Given the description of an element on the screen output the (x, y) to click on. 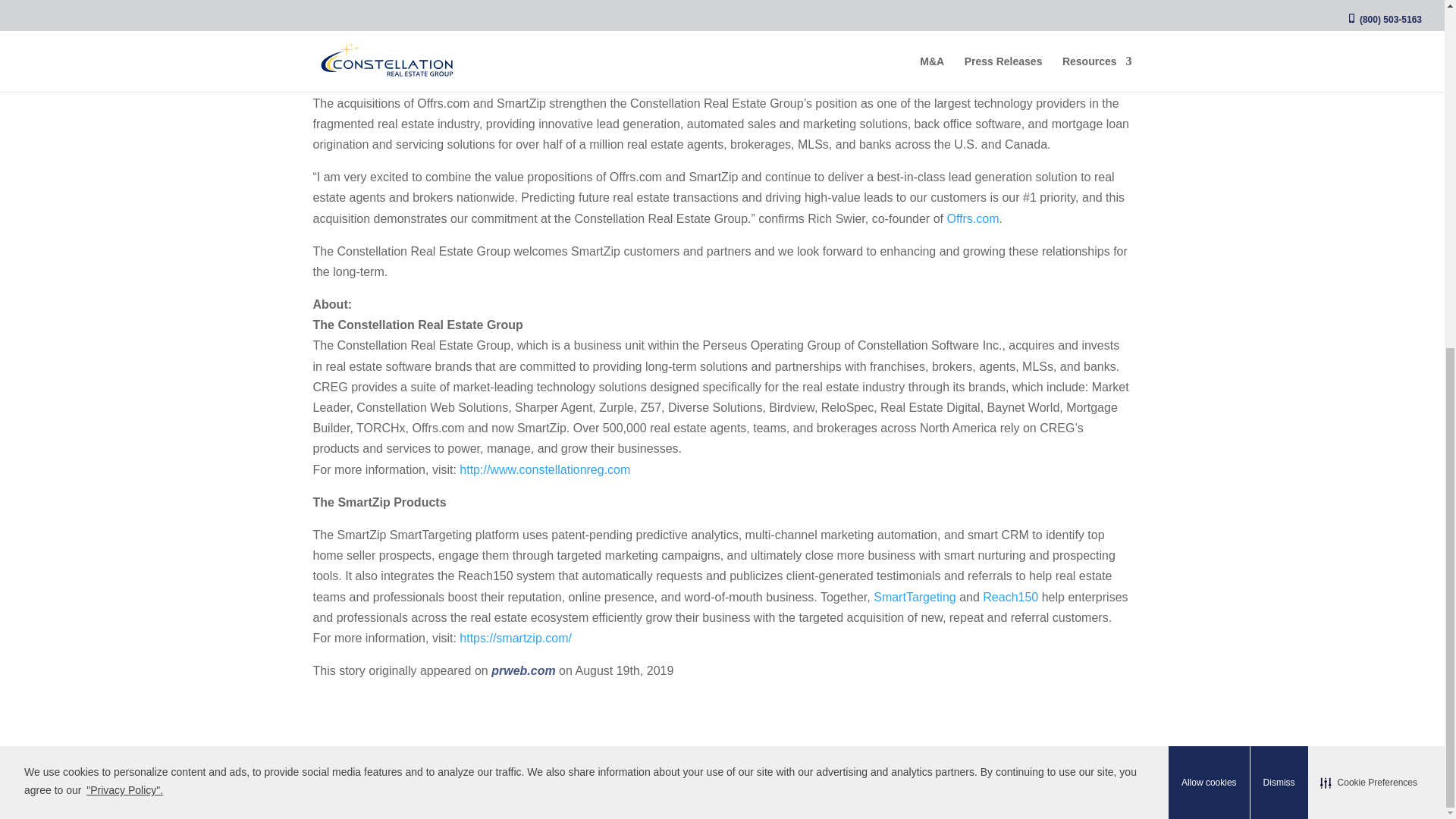
Do Not Sell My Personal Information (786, 796)
Allow cookies (1209, 181)
Cookie Preferences (1369, 181)
prweb.com (523, 670)
Offrs.com (972, 218)
Reach150 (1010, 596)
"Privacy Policy". (124, 189)
SmartTargeting (914, 596)
Privacy Policy (631, 796)
